Given the description of an element on the screen output the (x, y) to click on. 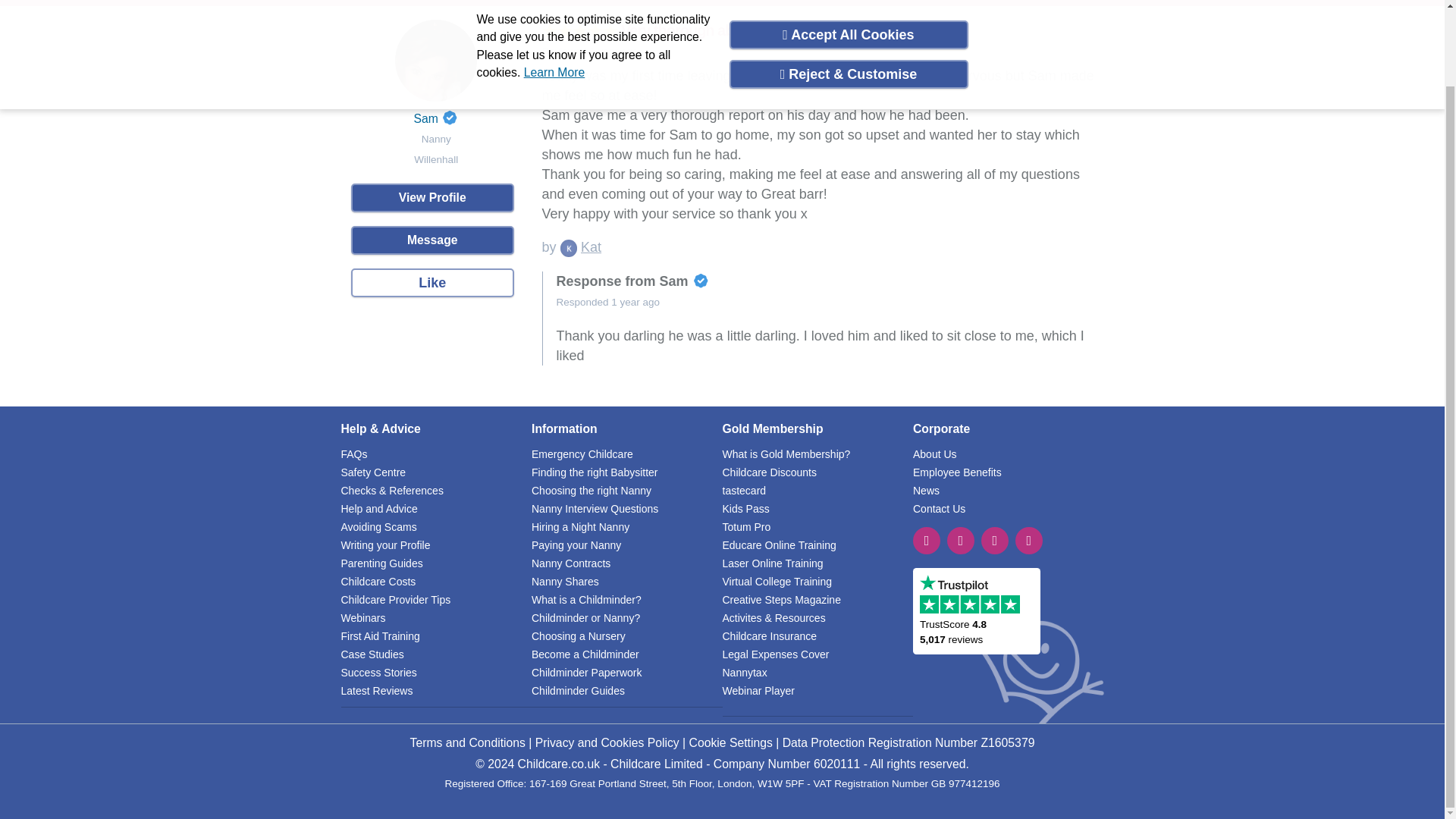
Message (431, 240)
Household Help (641, 2)
Case Studies (372, 653)
About Us (934, 453)
Babysitters (385, 2)
Safety Centre (373, 471)
Success Stories (378, 671)
Maternity Nurses (731, 2)
FAQs (354, 453)
Childcare Costs (378, 580)
